Given the description of an element on the screen output the (x, y) to click on. 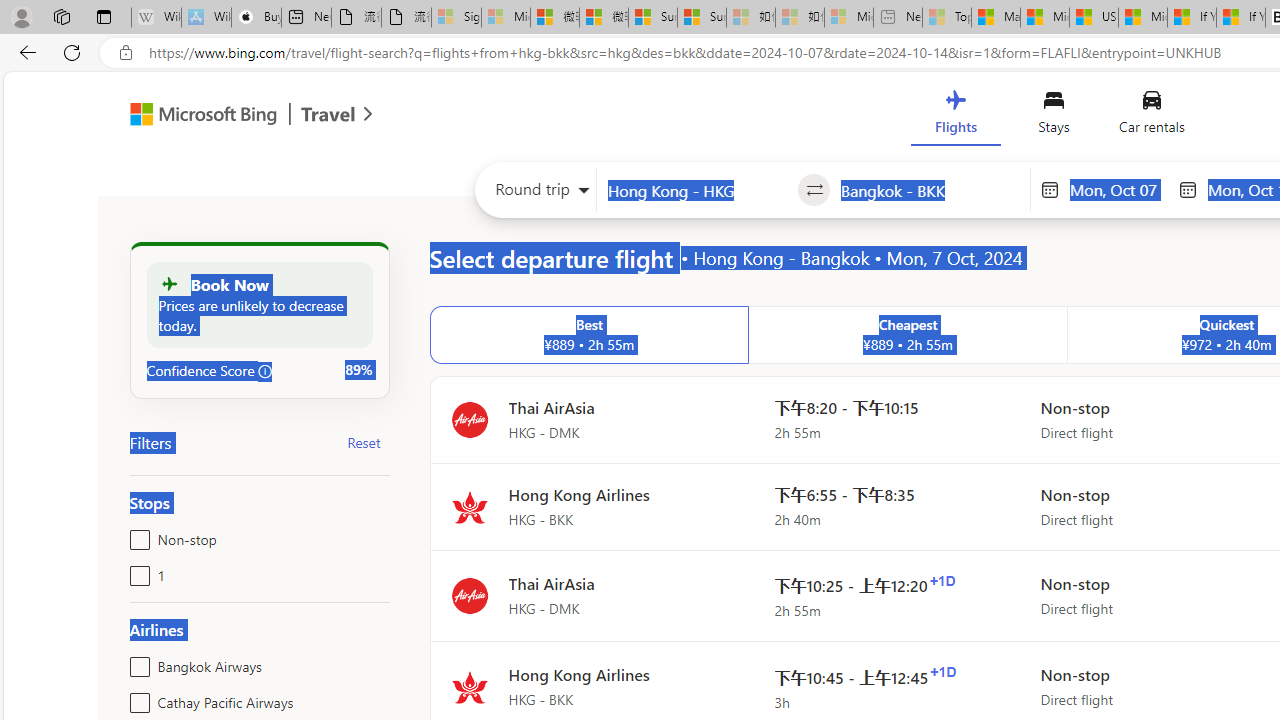
Marine life - MSN (995, 17)
1 (136, 571)
Microsoft Bing Travel (229, 116)
Top Stories - MSN - Sleeping (946, 17)
Flight logo (469, 687)
New tab - Sleeping (897, 17)
Reset (363, 442)
Info tooltip (265, 371)
Going to? (930, 190)
